Given the description of an element on the screen output the (x, y) to click on. 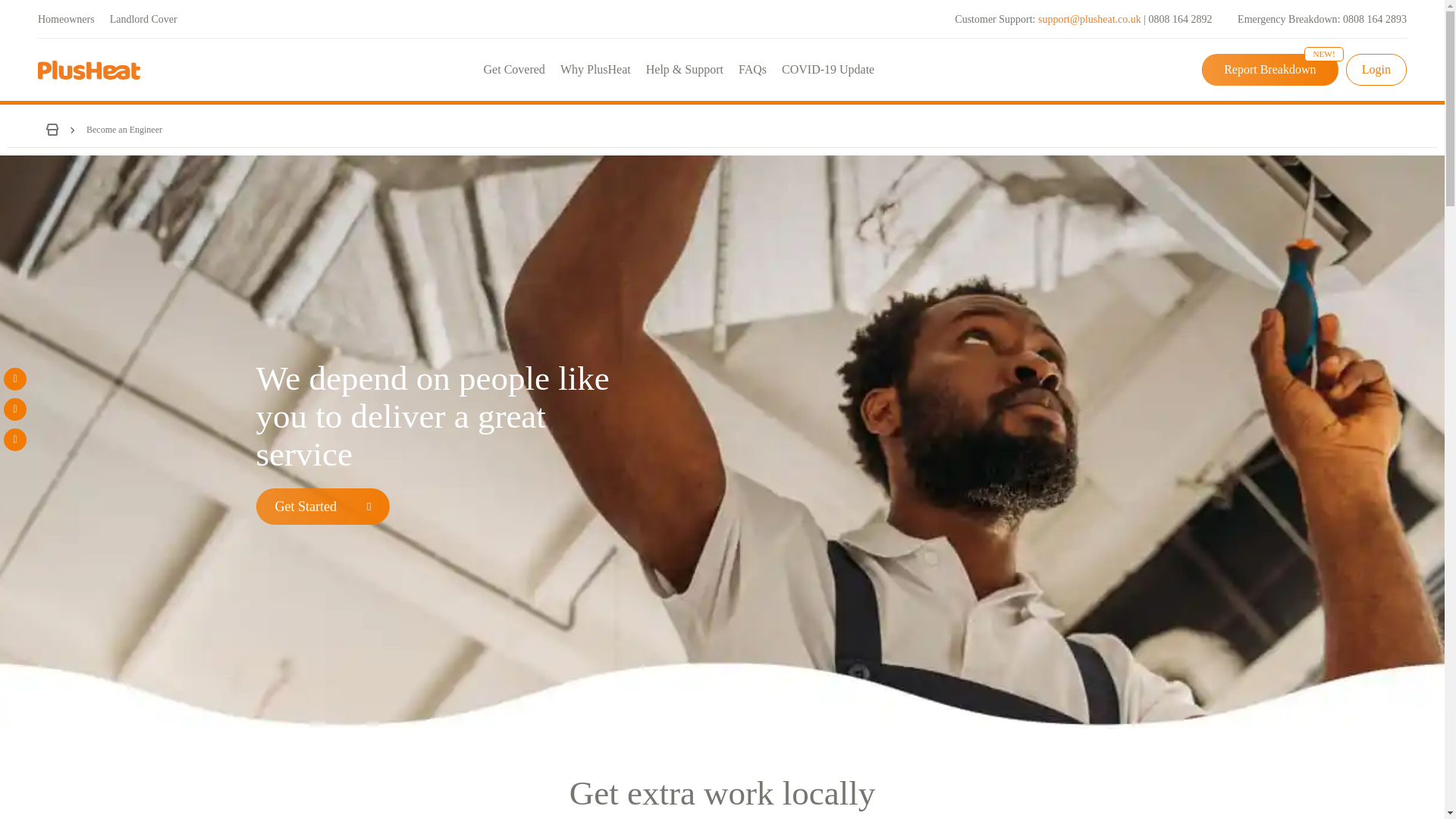
Report Breakdown (1270, 69)
0808 164 2892 (1180, 19)
Login (1375, 69)
FAQs (752, 69)
Why PlusHeat (596, 69)
Twitter (15, 409)
Get Covered (514, 69)
Instagram (15, 439)
Landlord Cover (143, 18)
COVID-19 Update (828, 69)
Get Started (323, 506)
Homeowners (65, 18)
Facebook (15, 378)
0808 164 2893 (1374, 19)
